Given the description of an element on the screen output the (x, y) to click on. 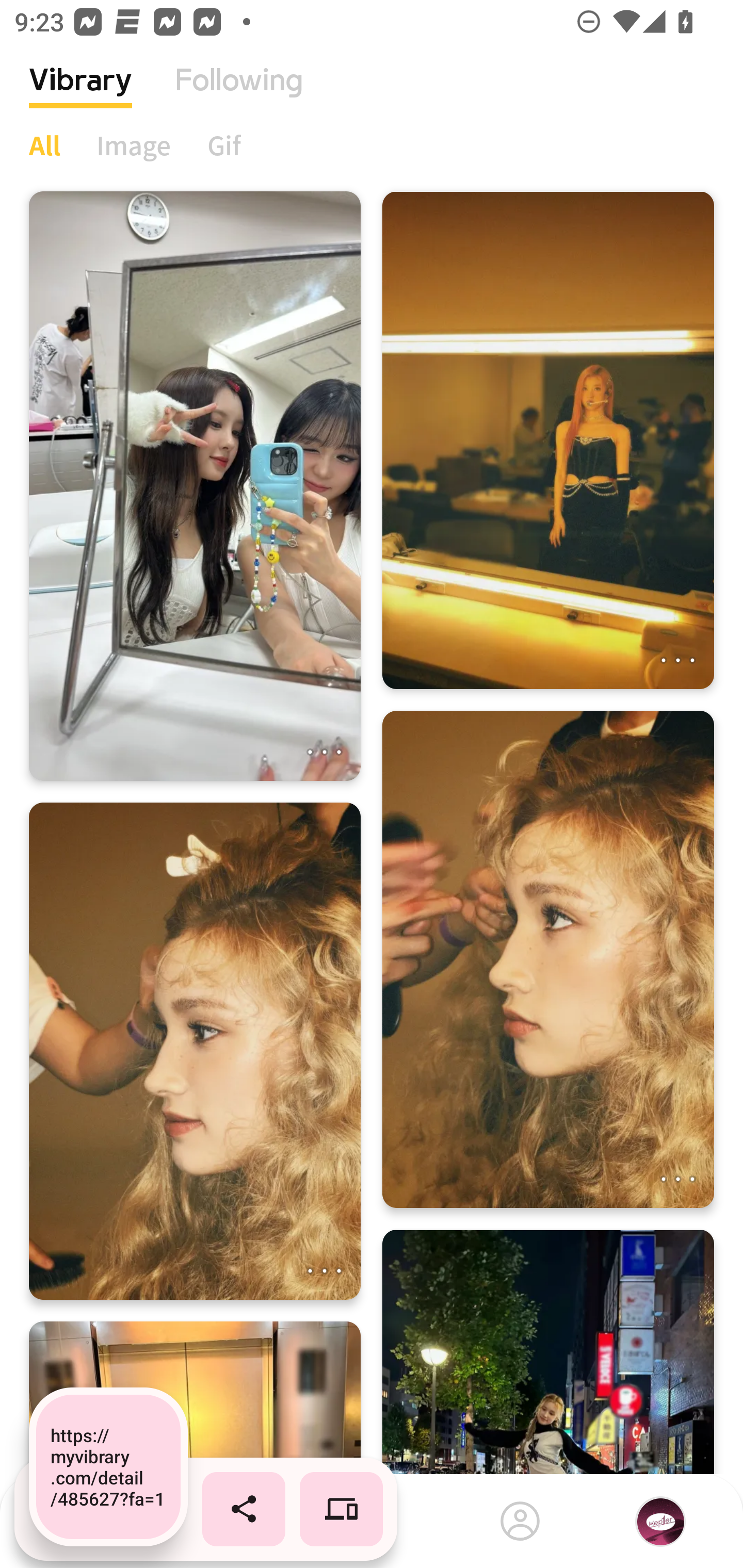
Vibrary (80, 95)
Following (239, 95)
All (44, 145)
Image (133, 145)
Gif (223, 145)
